Given the description of an element on the screen output the (x, y) to click on. 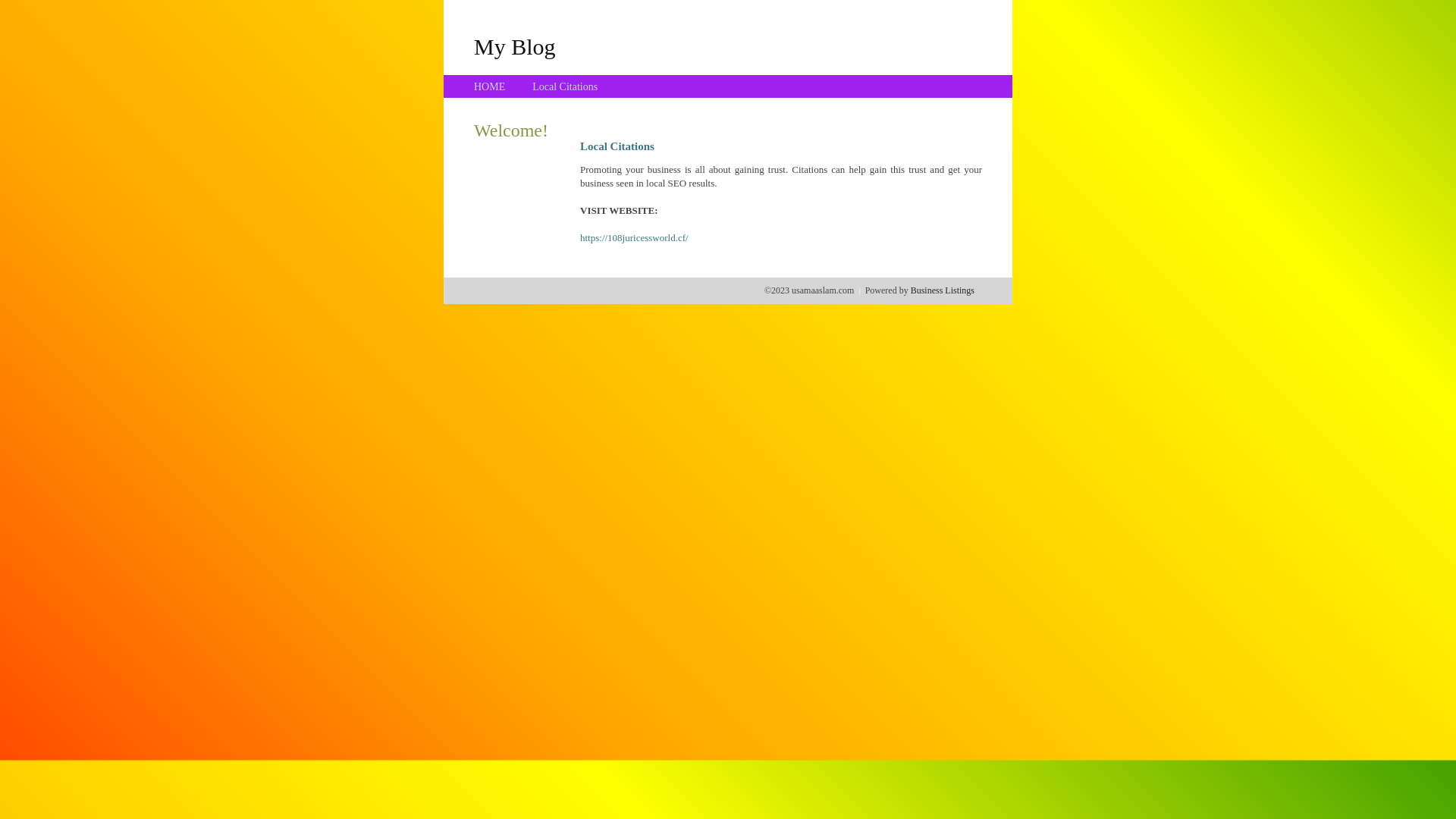
My Blog Element type: text (514, 46)
Business Listings Element type: text (942, 290)
https://108juricessworld.cf/ Element type: text (634, 237)
Local Citations Element type: text (564, 86)
HOME Element type: text (489, 86)
